Given the description of an element on the screen output the (x, y) to click on. 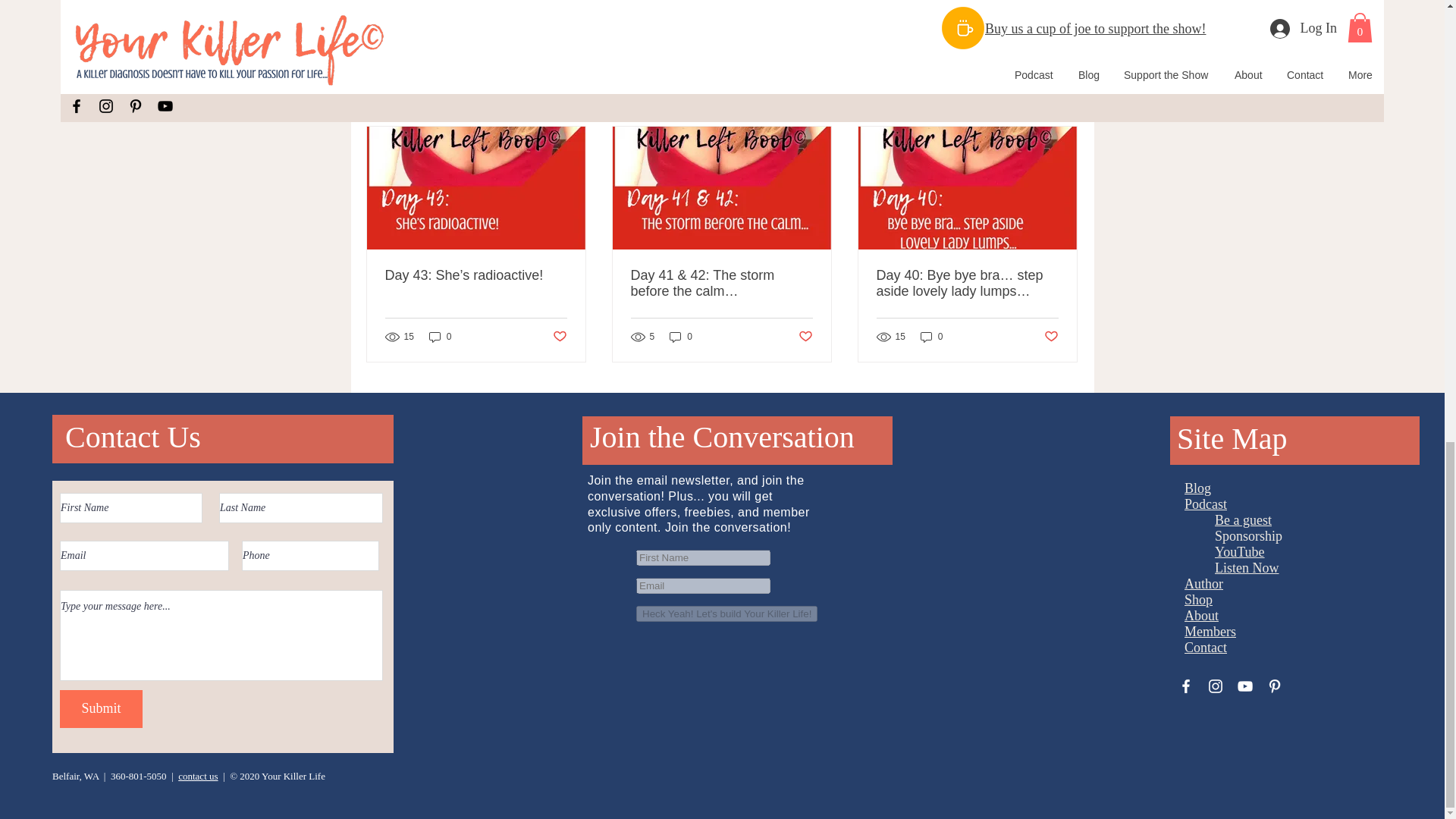
Embedded Content (747, 627)
